Given the description of an element on the screen output the (x, y) to click on. 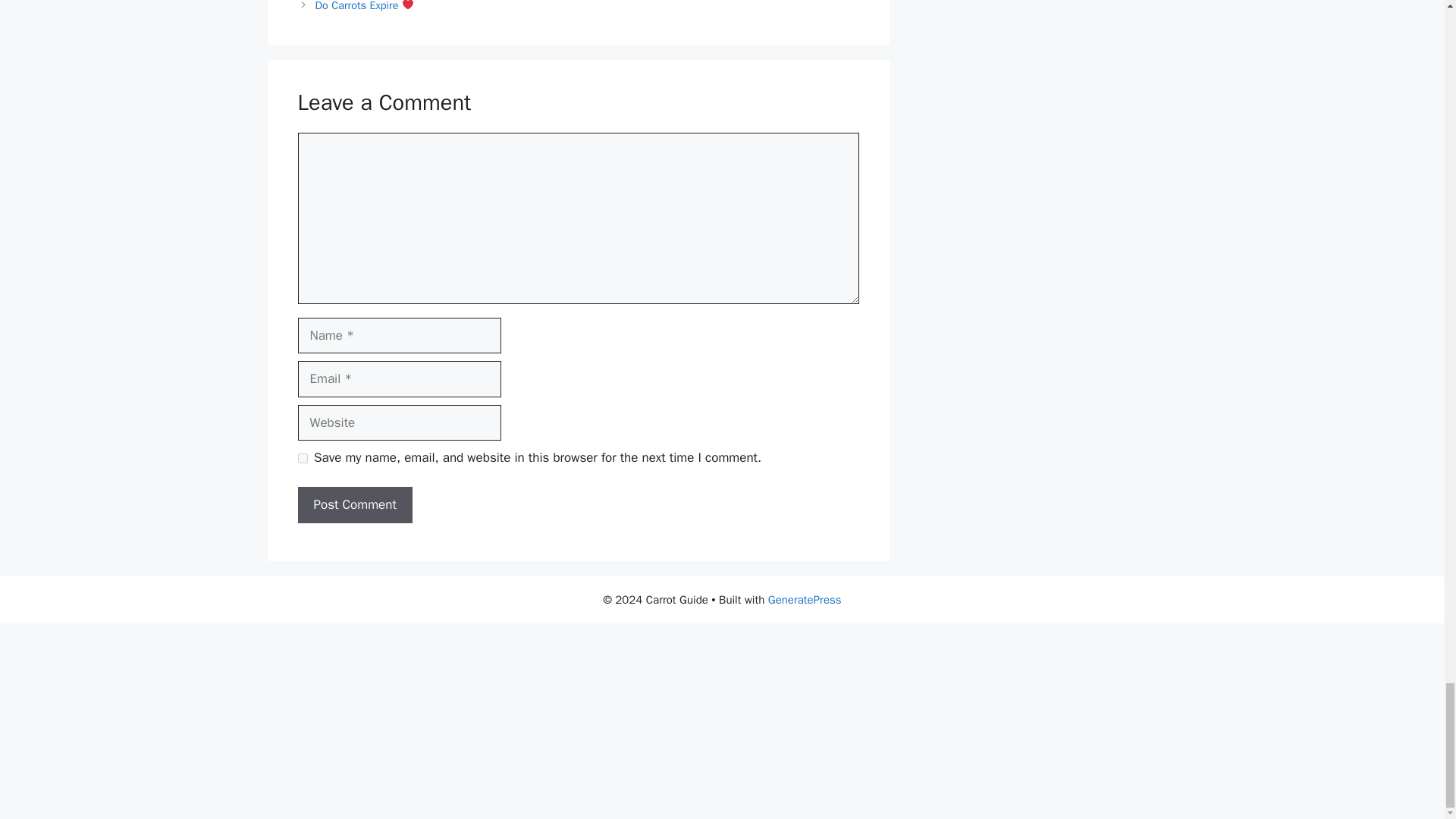
Post Comment (354, 504)
Do Carrots Expire (364, 6)
yes (302, 458)
Post Comment (354, 504)
